Given the description of an element on the screen output the (x, y) to click on. 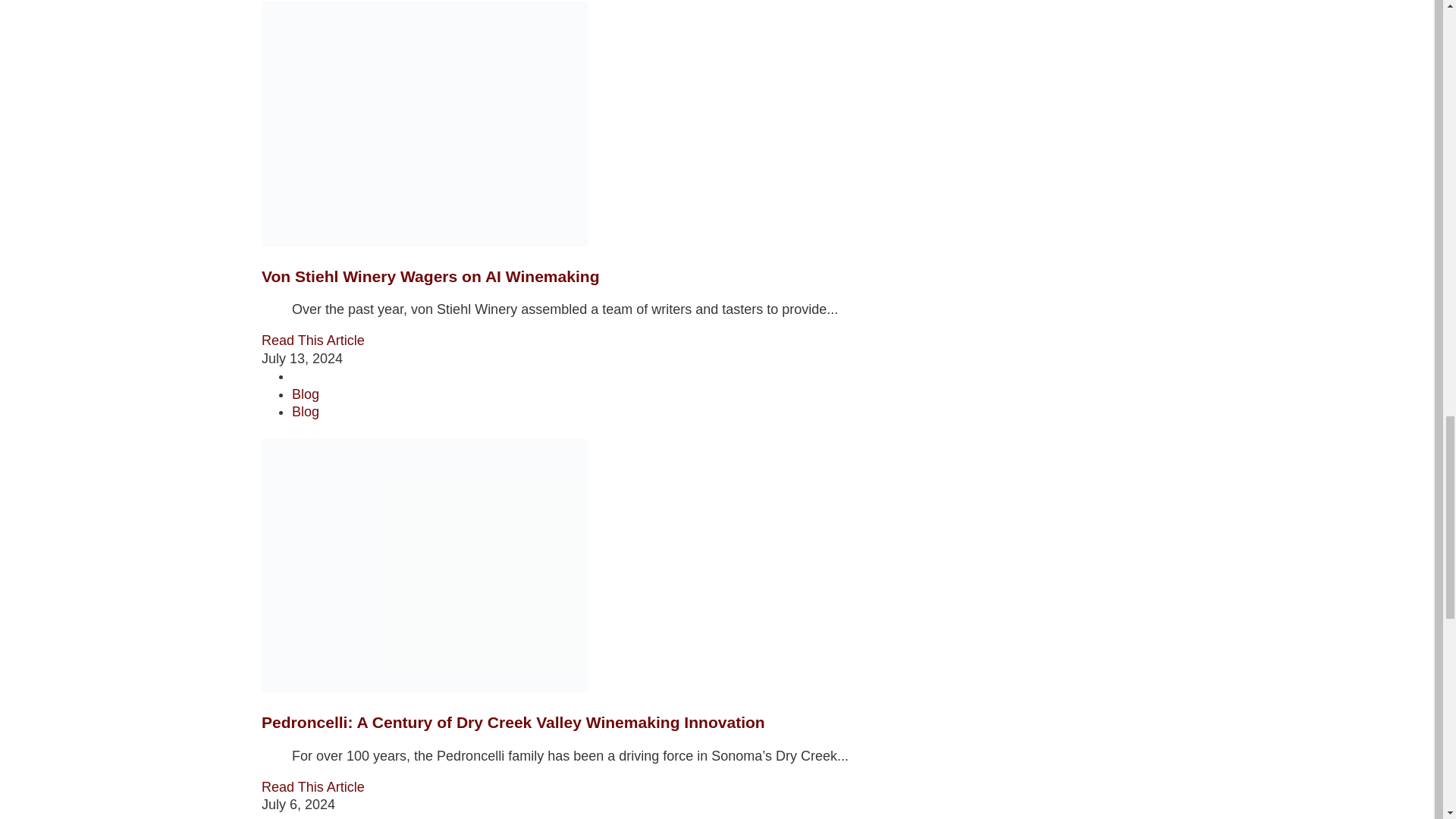
Read This Article (313, 340)
Blog (305, 394)
Blog (305, 411)
Von Stiehl Winery Wagers on AI Winemaking (430, 276)
Von Stiehl Winery Wagers on AI Winemaking (430, 276)
